Given the description of an element on the screen output the (x, y) to click on. 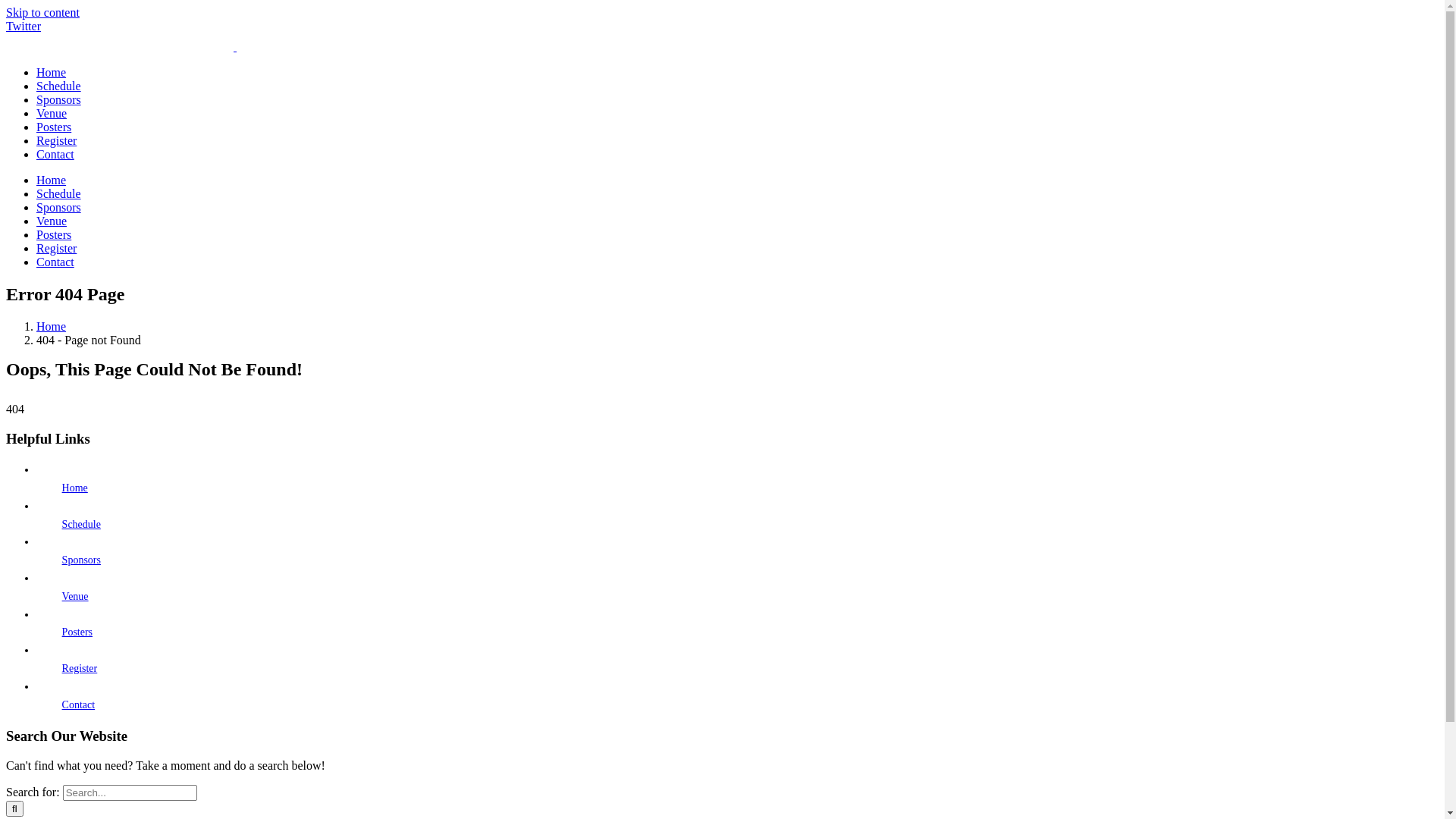
Schedule Element type: text (58, 193)
Schedule Element type: text (58, 85)
Venue Element type: text (51, 112)
Skip to content Element type: text (42, 12)
Contact Element type: text (55, 261)
Home Element type: text (50, 71)
Contact Element type: text (78, 704)
Register Element type: text (79, 668)
Venue Element type: text (75, 596)
Posters Element type: text (53, 234)
Register Element type: text (56, 247)
Twitter Element type: text (23, 25)
Posters Element type: text (77, 631)
Home Element type: text (74, 487)
Sponsors Element type: text (81, 559)
Sponsors Element type: text (58, 99)
Home Element type: text (50, 179)
Home Element type: text (50, 326)
Contact Element type: text (55, 153)
Schedule Element type: text (81, 524)
Register Element type: text (56, 140)
Posters Element type: text (53, 126)
Sponsors Element type: text (58, 206)
Venue Element type: text (51, 220)
